Given the description of an element on the screen output the (x, y) to click on. 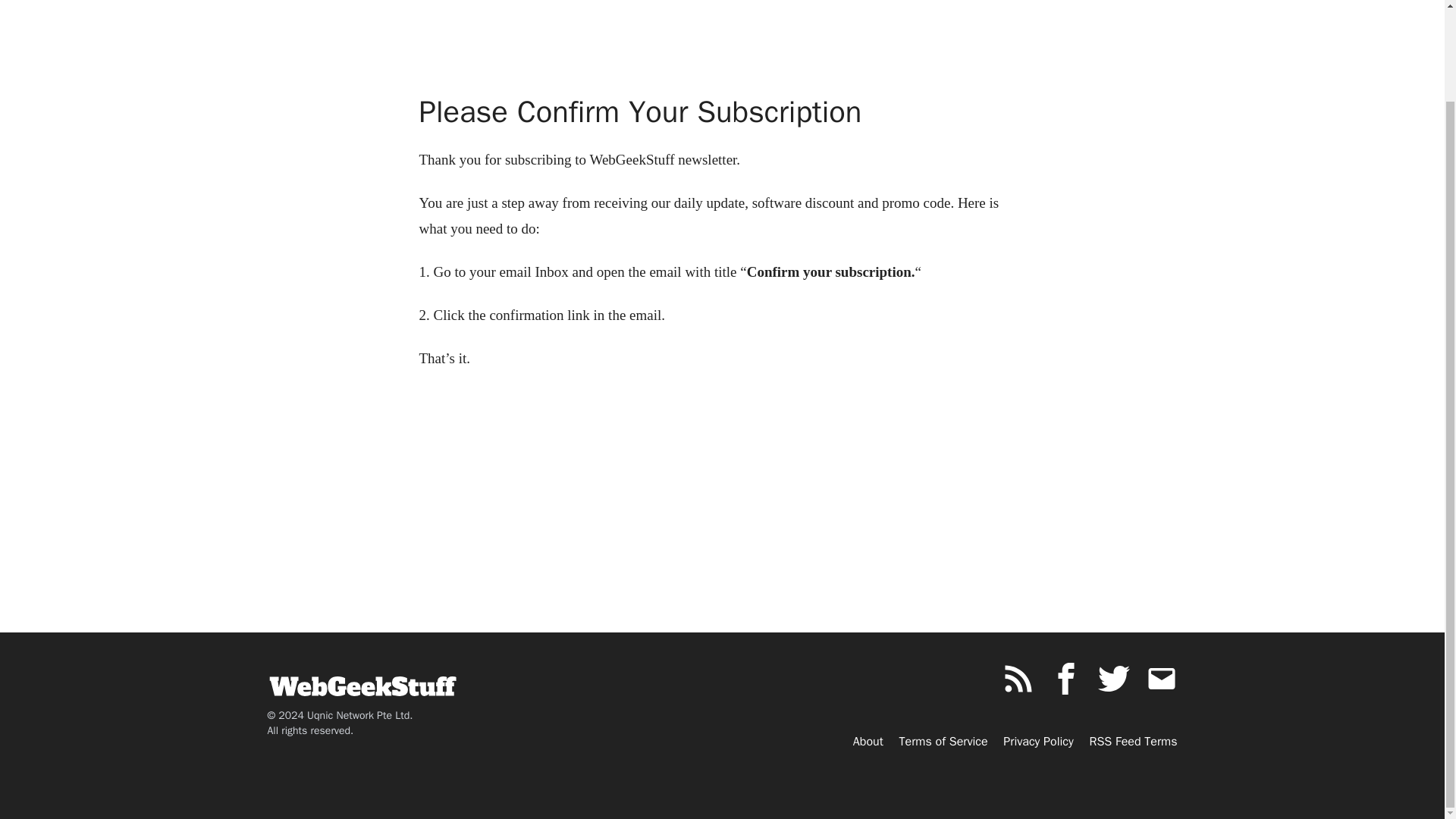
Privacy Policy (1038, 741)
About (868, 741)
Terms of Service (943, 741)
RSS Feed Terms (1132, 741)
